Given the description of an element on the screen output the (x, y) to click on. 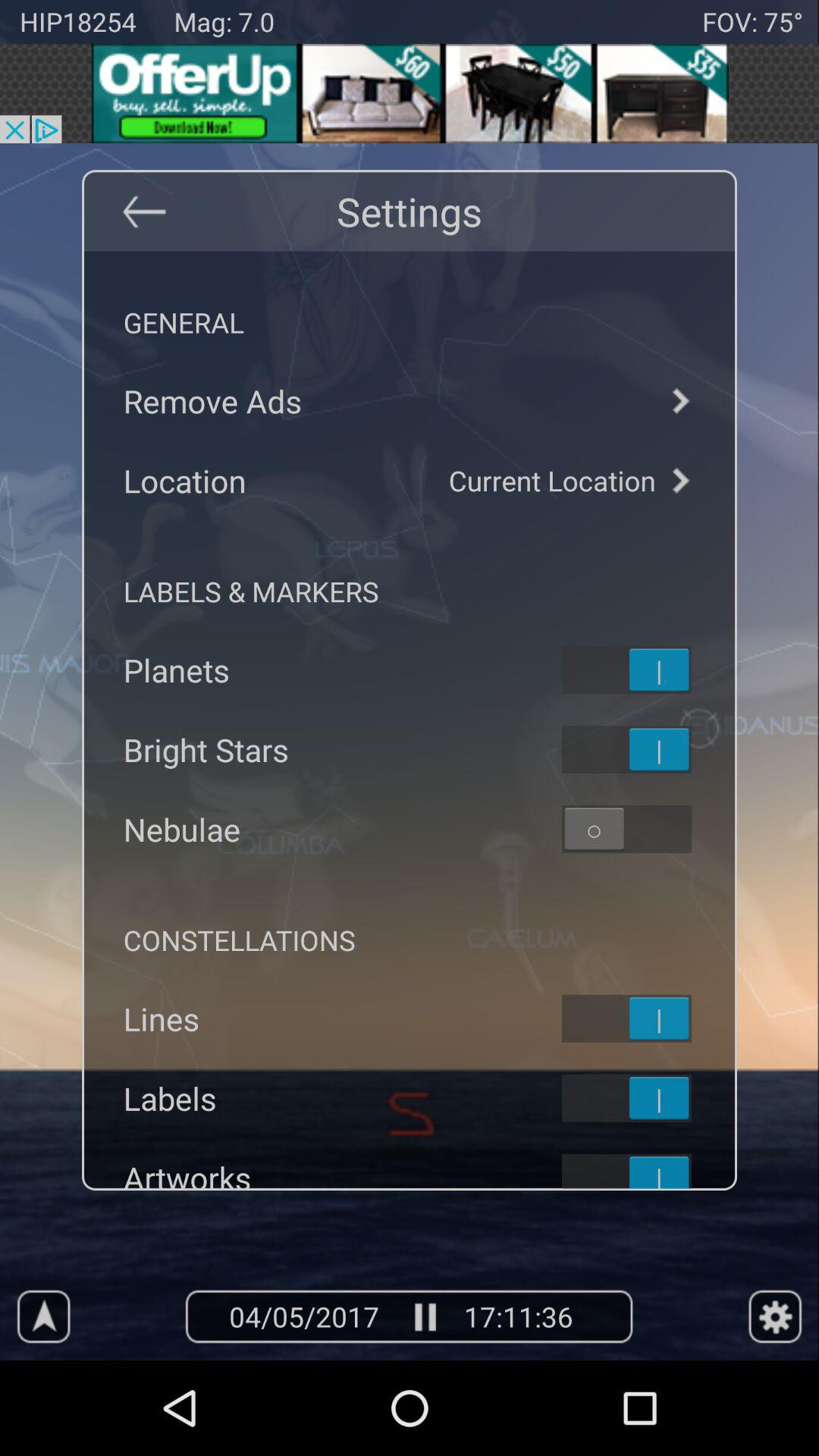
remove advertisements (409, 400)
